Given the description of an element on the screen output the (x, y) to click on. 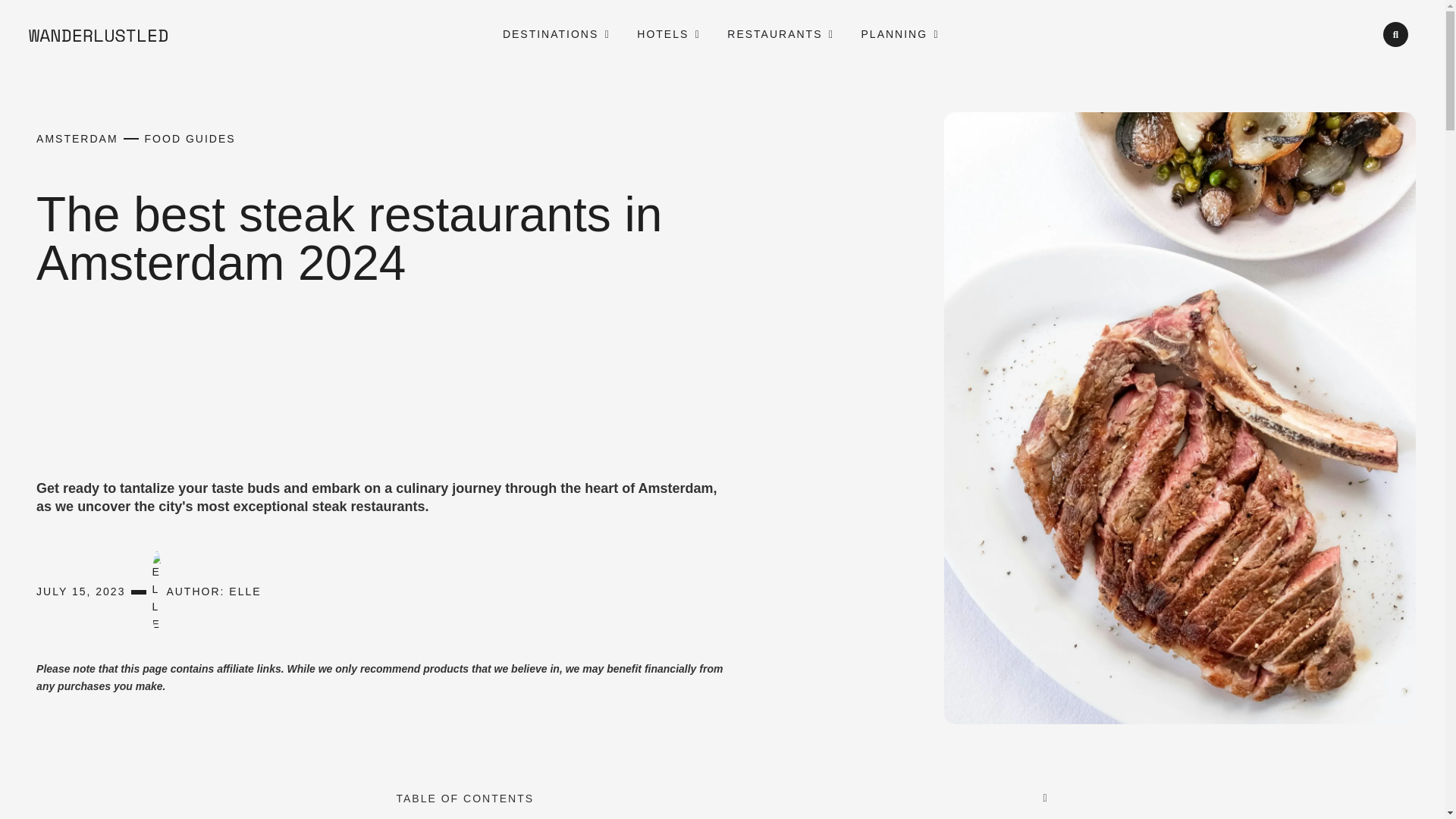
RESTAURANTS (774, 34)
DESTINATIONS (550, 34)
HOTELS (662, 34)
